Given the description of an element on the screen output the (x, y) to click on. 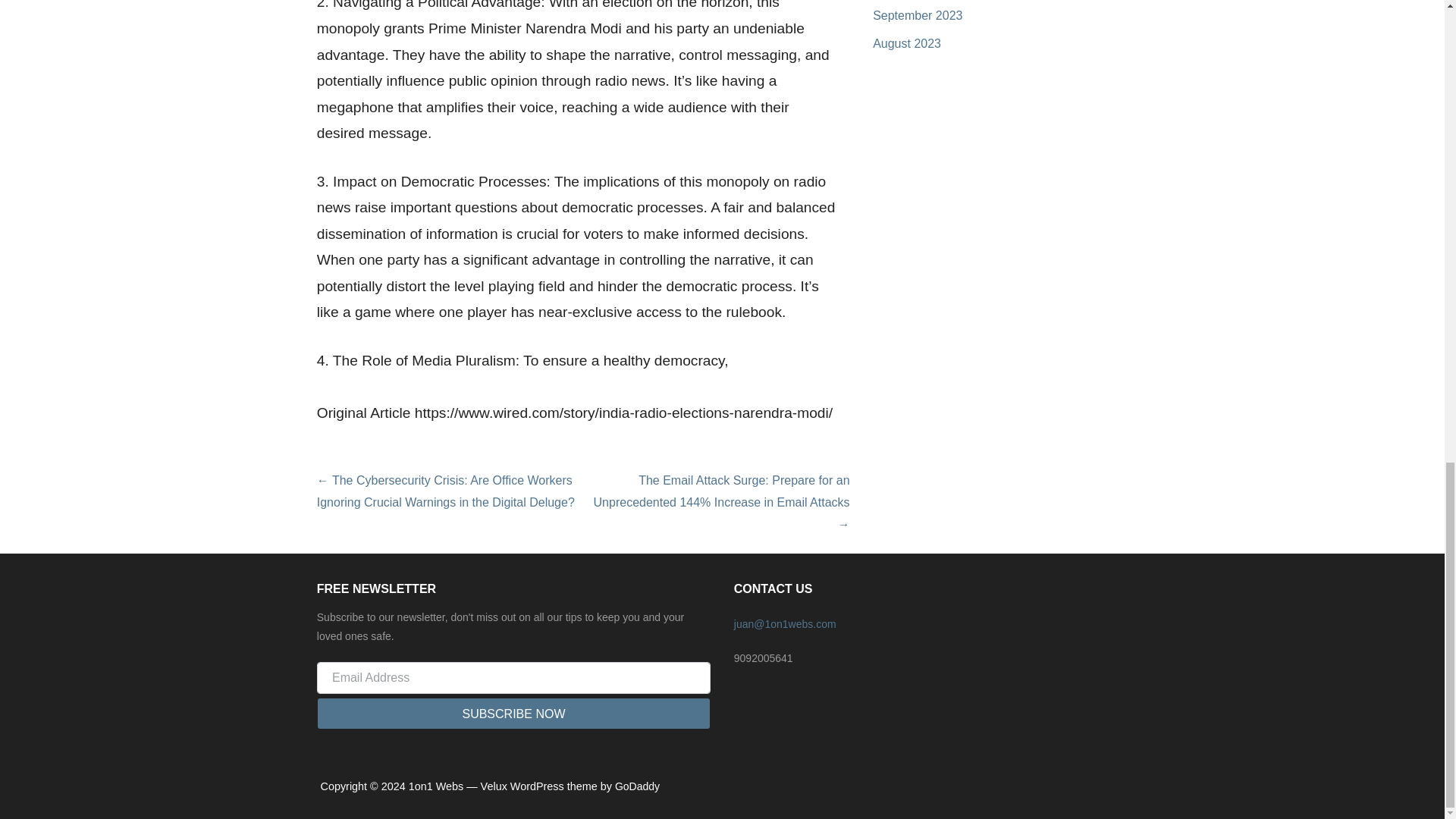
SUBSCRIBE NOW (513, 713)
GoDaddy (636, 786)
August 2023 (906, 42)
SUBSCRIBE NOW (513, 713)
September 2023 (917, 15)
